Given the description of an element on the screen output the (x, y) to click on. 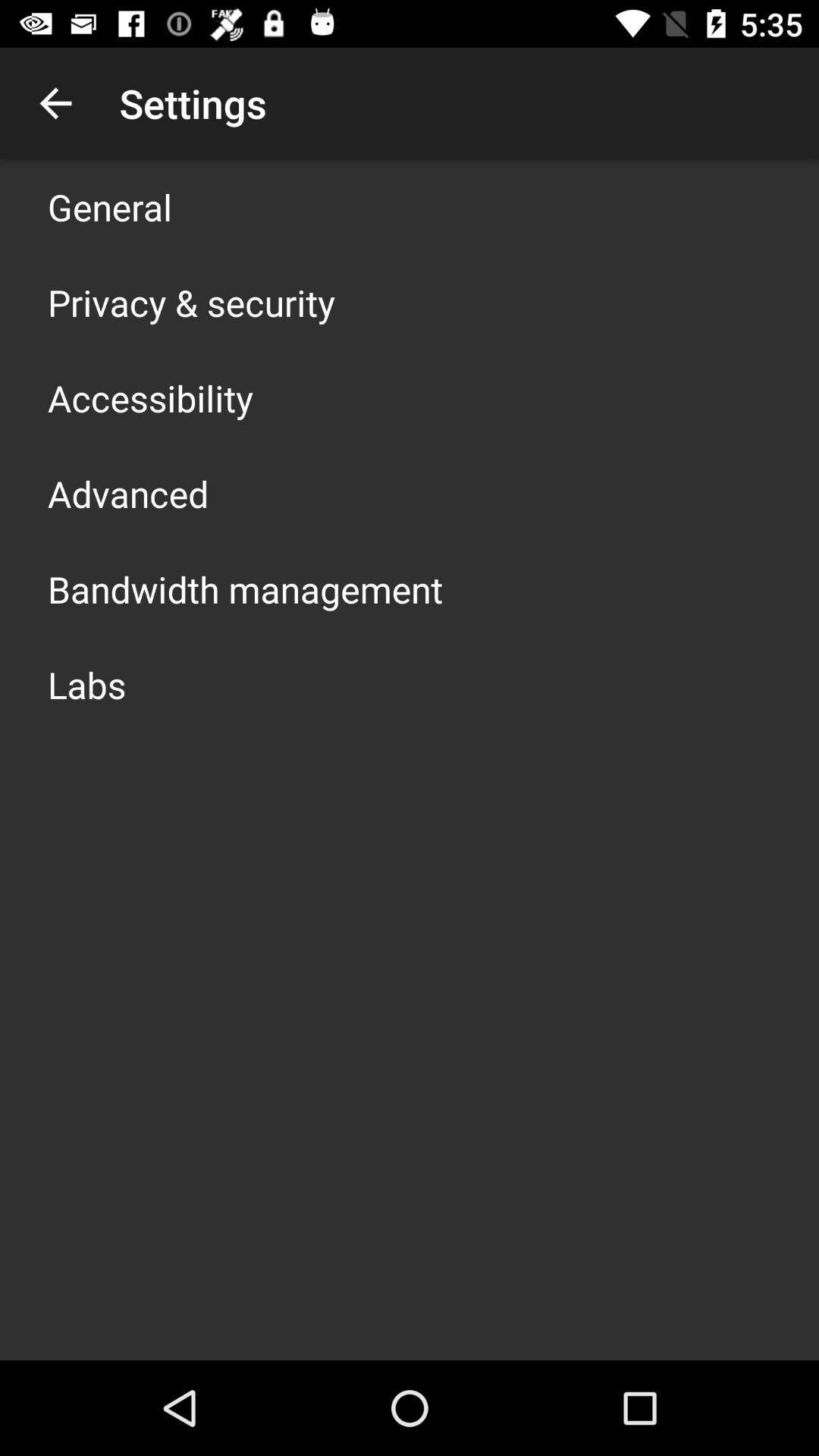
scroll to labs item (86, 684)
